Given the description of an element on the screen output the (x, y) to click on. 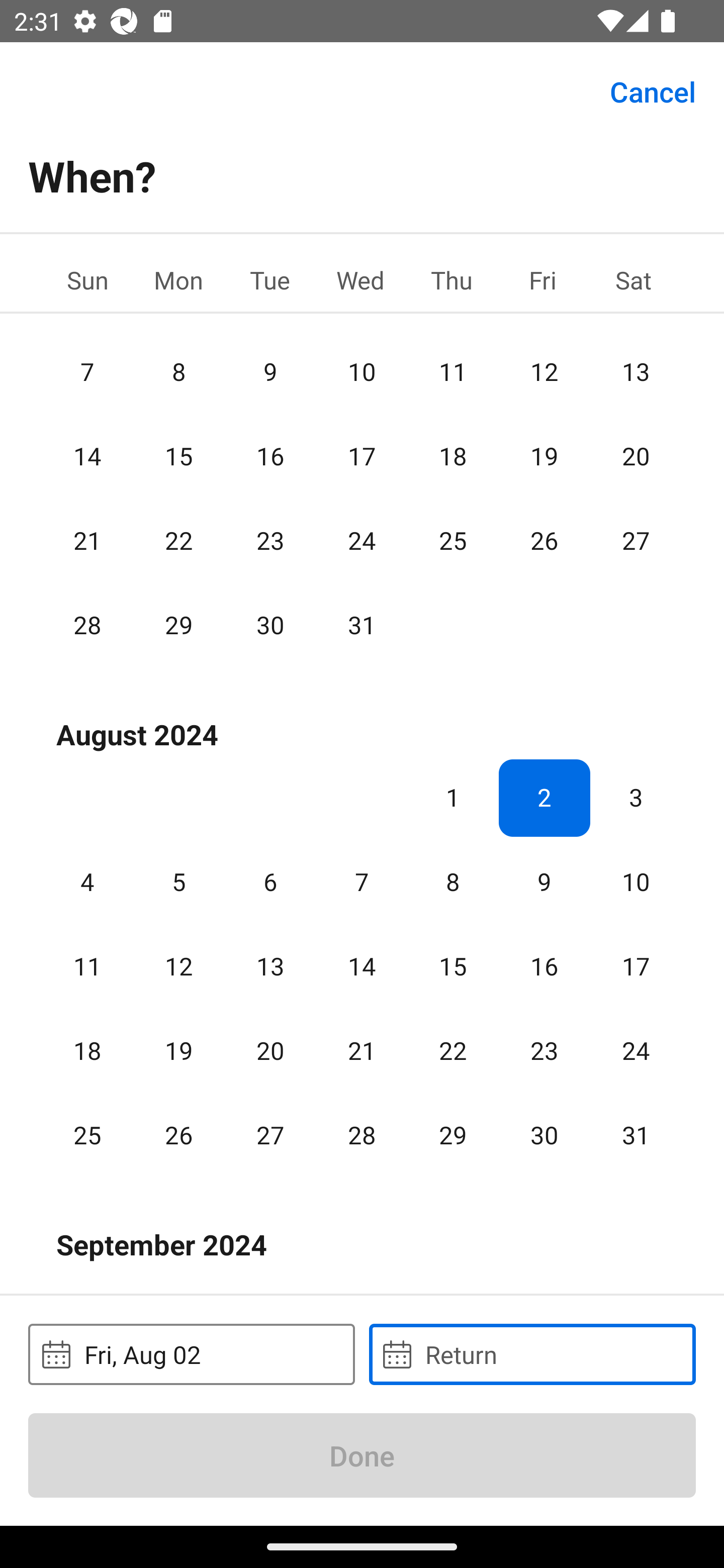
Cancel (652, 90)
Fri, Aug 02 (191, 1353)
Return (532, 1353)
Done (361, 1454)
